Given the description of an element on the screen output the (x, y) to click on. 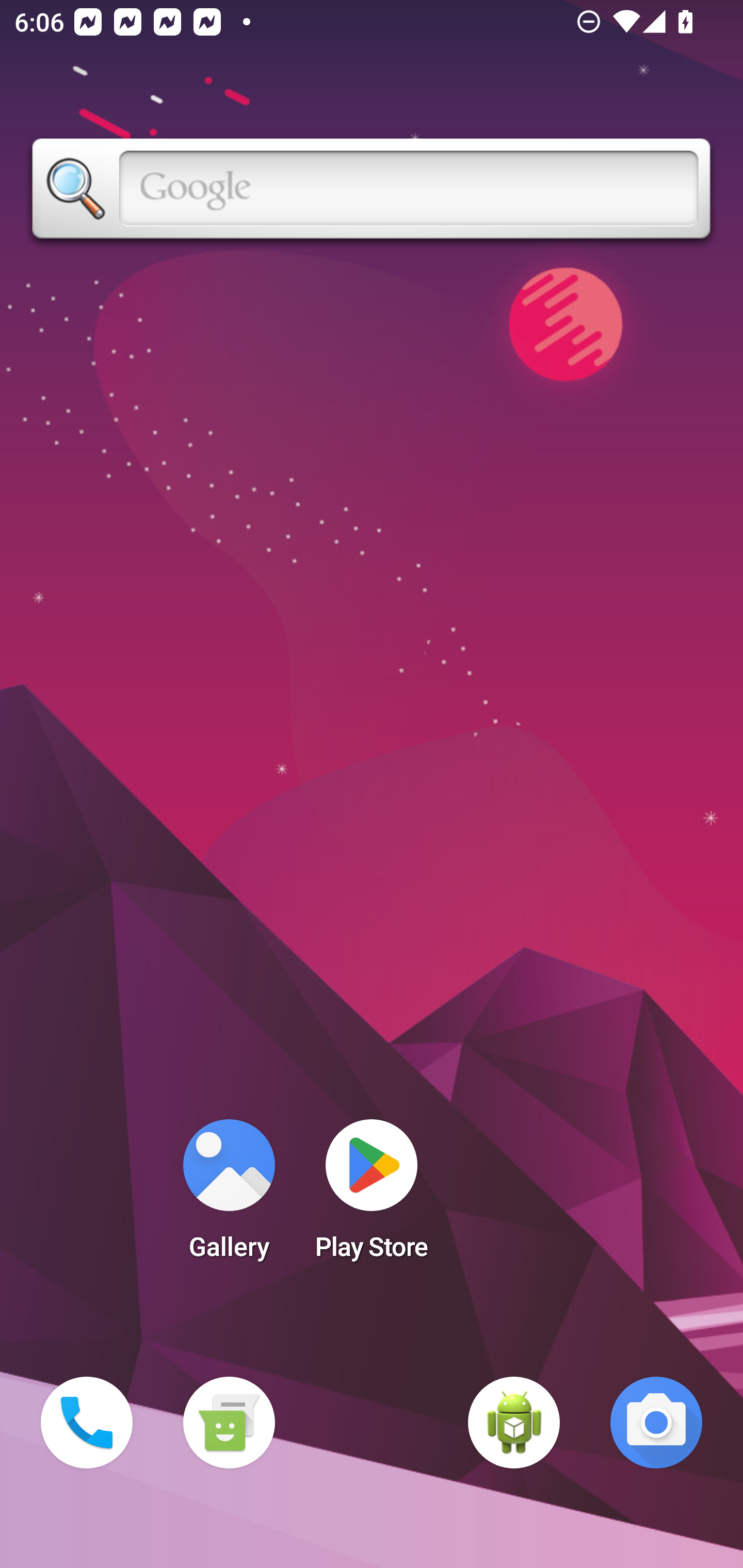
Gallery (228, 1195)
Play Store (371, 1195)
Phone (86, 1422)
Messaging (228, 1422)
WebView Browser Tester (513, 1422)
Camera (656, 1422)
